Given the description of an element on the screen output the (x, y) to click on. 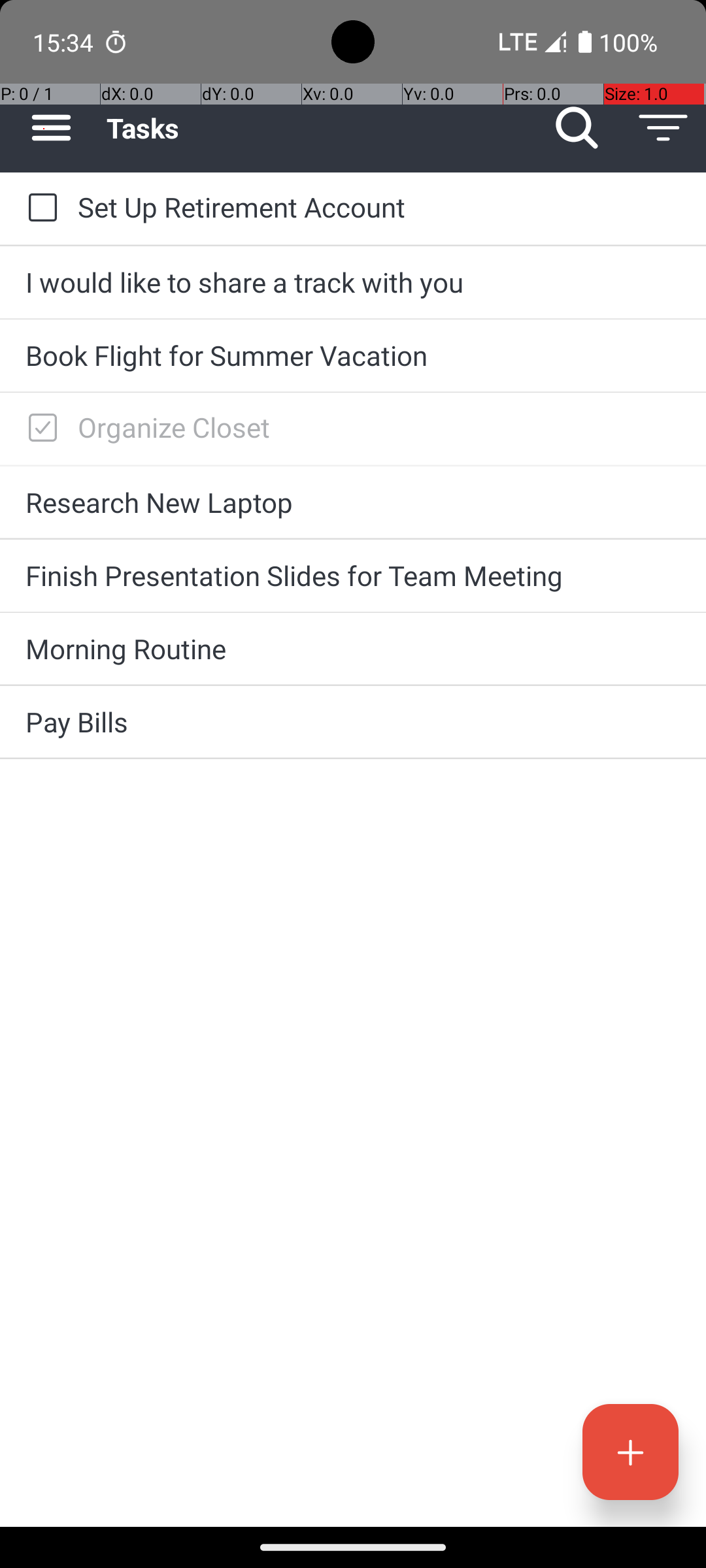
to-do: Set Up Retirement Account Element type: android.widget.CheckBox (38, 208)
Set Up Retirement Account Element type: android.widget.TextView (378, 206)
I would like to share a track with you Element type: android.widget.TextView (352, 281)
Book Flight for Summer Vacation Element type: android.widget.TextView (352, 354)
to-do: Organize Closet Element type: android.widget.CheckBox (38, 428)
Research New Laptop Element type: android.widget.TextView (352, 501)
Finish Presentation Slides for Team Meeting Element type: android.widget.TextView (352, 574)
Morning Routine Element type: android.widget.TextView (352, 648)
Pay Bills Element type: android.widget.TextView (352, 721)
